Given the description of an element on the screen output the (x, y) to click on. 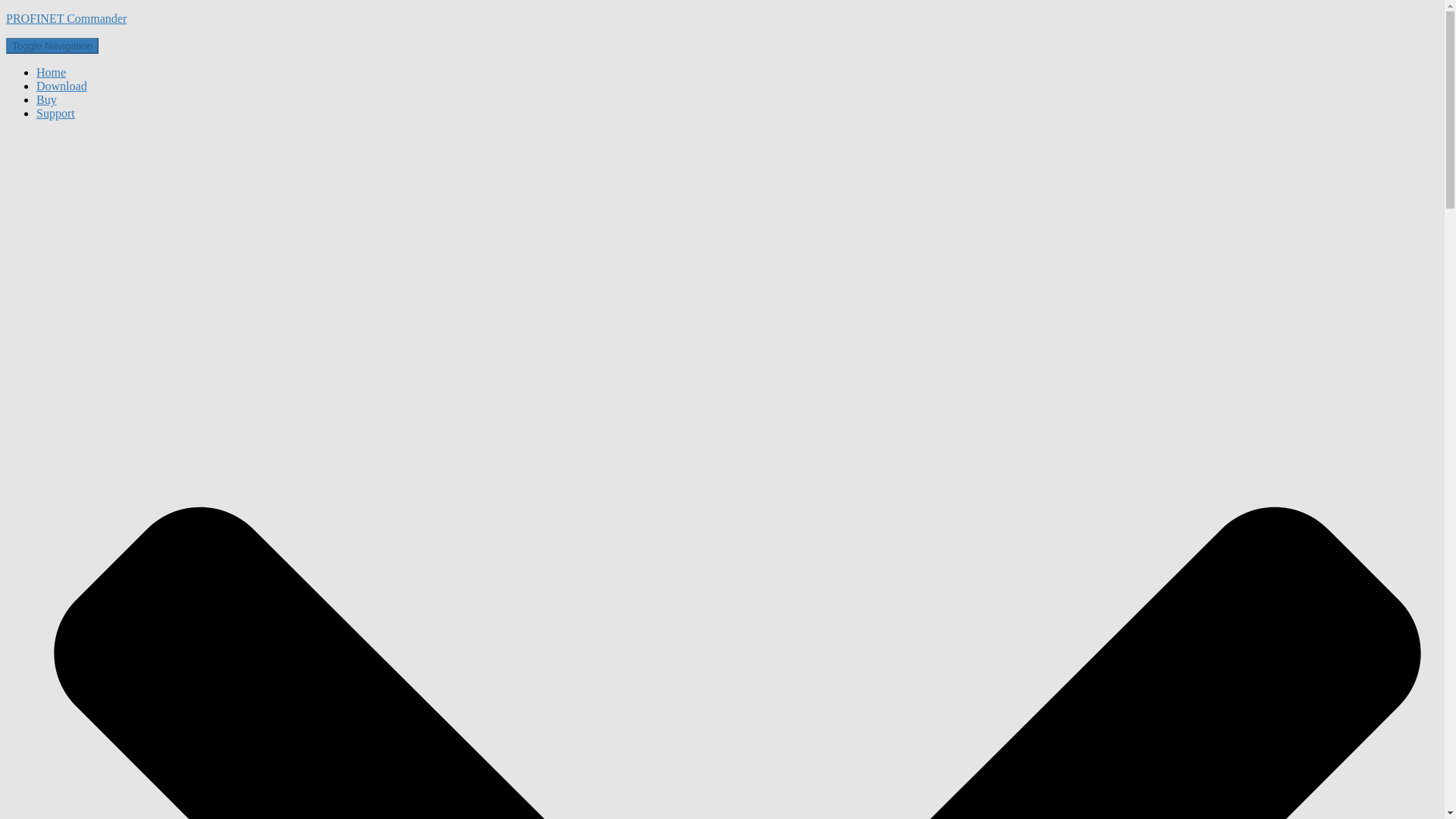
Buy (46, 99)
Home (50, 72)
Buy (46, 99)
Download (61, 85)
Home (50, 72)
Download (61, 85)
Toggle Navigation (52, 45)
